Given the description of an element on the screen output the (x, y) to click on. 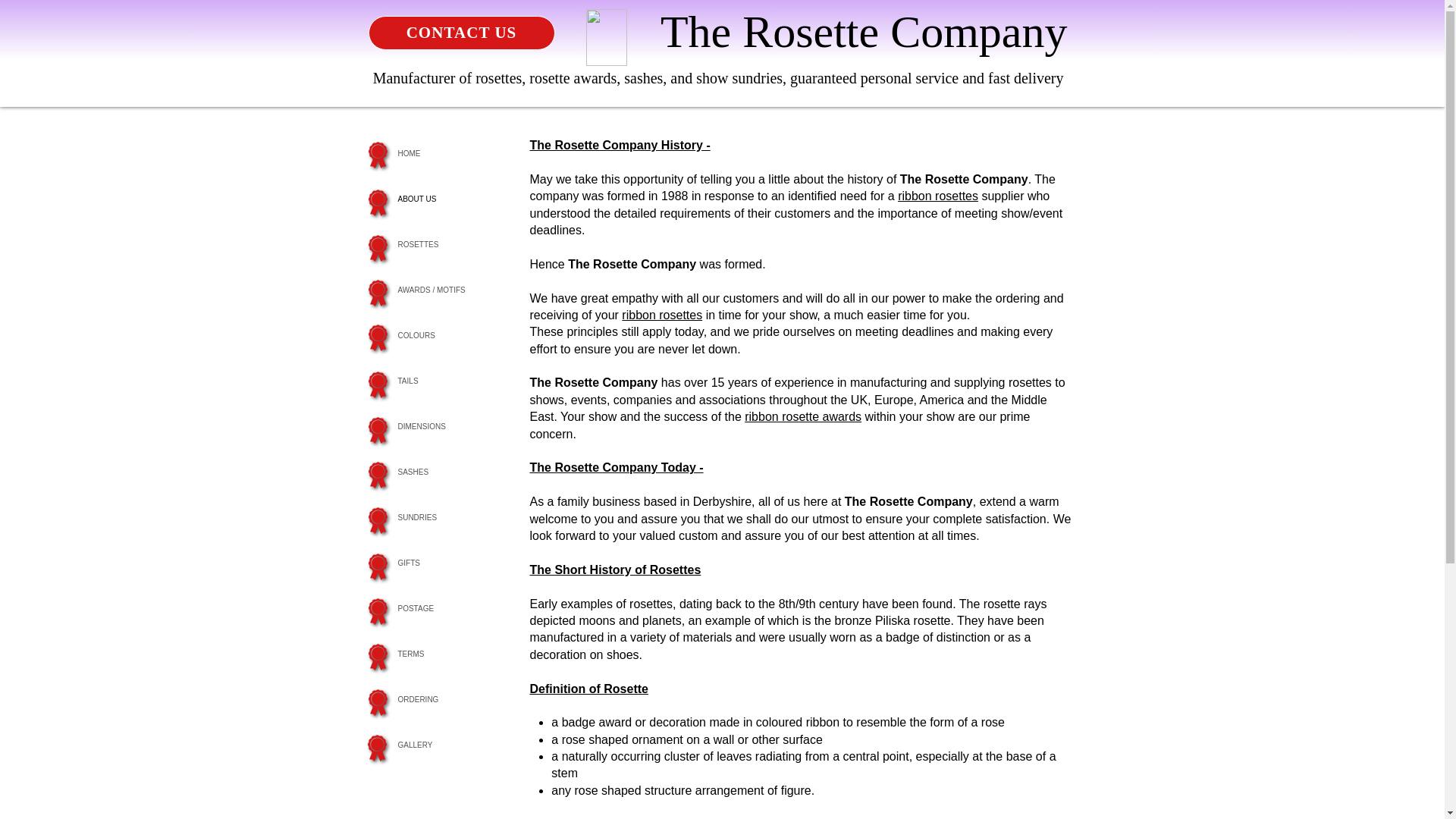
CONTACT US (461, 32)
DIMENSIONS (450, 426)
HOME (450, 153)
TERMS (450, 654)
ribbon rosette awards (802, 416)
SUNDRIES (450, 517)
GIFTS (450, 563)
COLOURS (450, 335)
ORDERING (450, 699)
TAILS (450, 381)
SASHES (450, 472)
ribbon rosettes (661, 314)
POSTAGE (450, 608)
ABOUT US (450, 198)
GALLERY (450, 745)
